Given the description of an element on the screen output the (x, y) to click on. 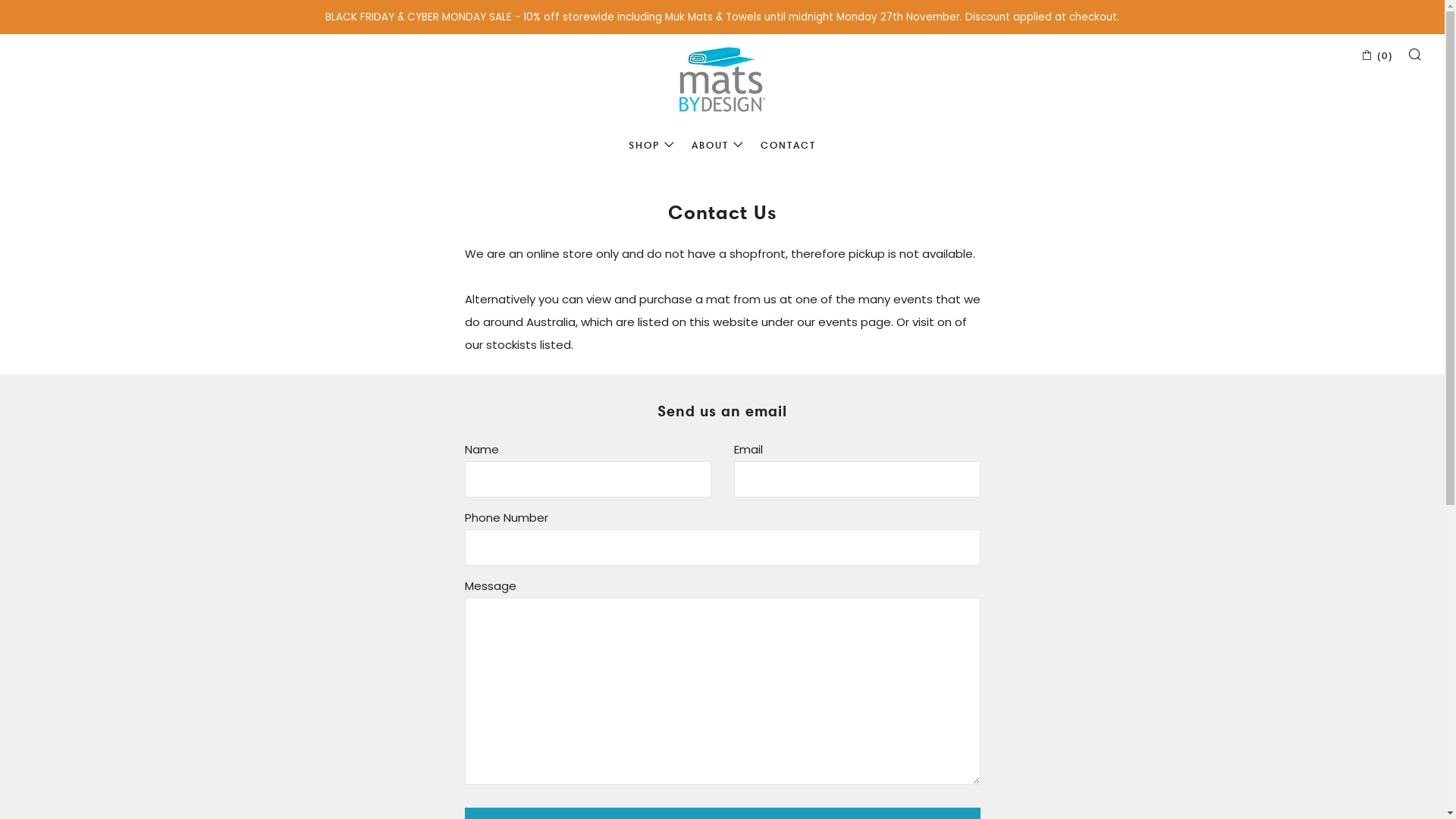
CONTACT Element type: text (787, 144)
CART
(0) Element type: text (1377, 55)
SHOP Element type: text (651, 144)
ABOUT Element type: text (717, 144)
SEARCH Element type: text (1414, 53)
